Given the description of an element on the screen output the (x, y) to click on. 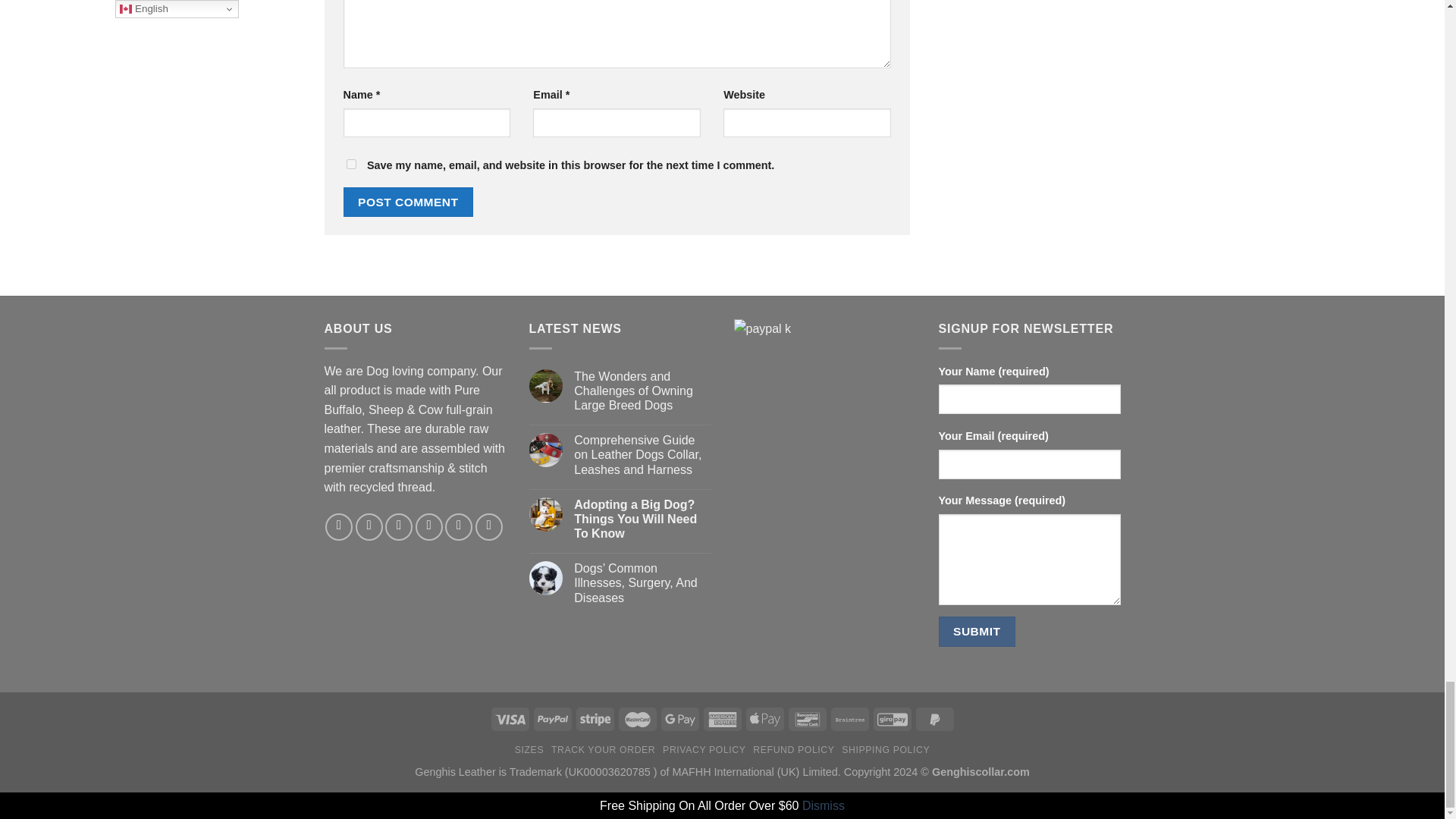
Submit (976, 631)
Post Comment (407, 202)
yes (350, 163)
